Given the description of an element on the screen output the (x, y) to click on. 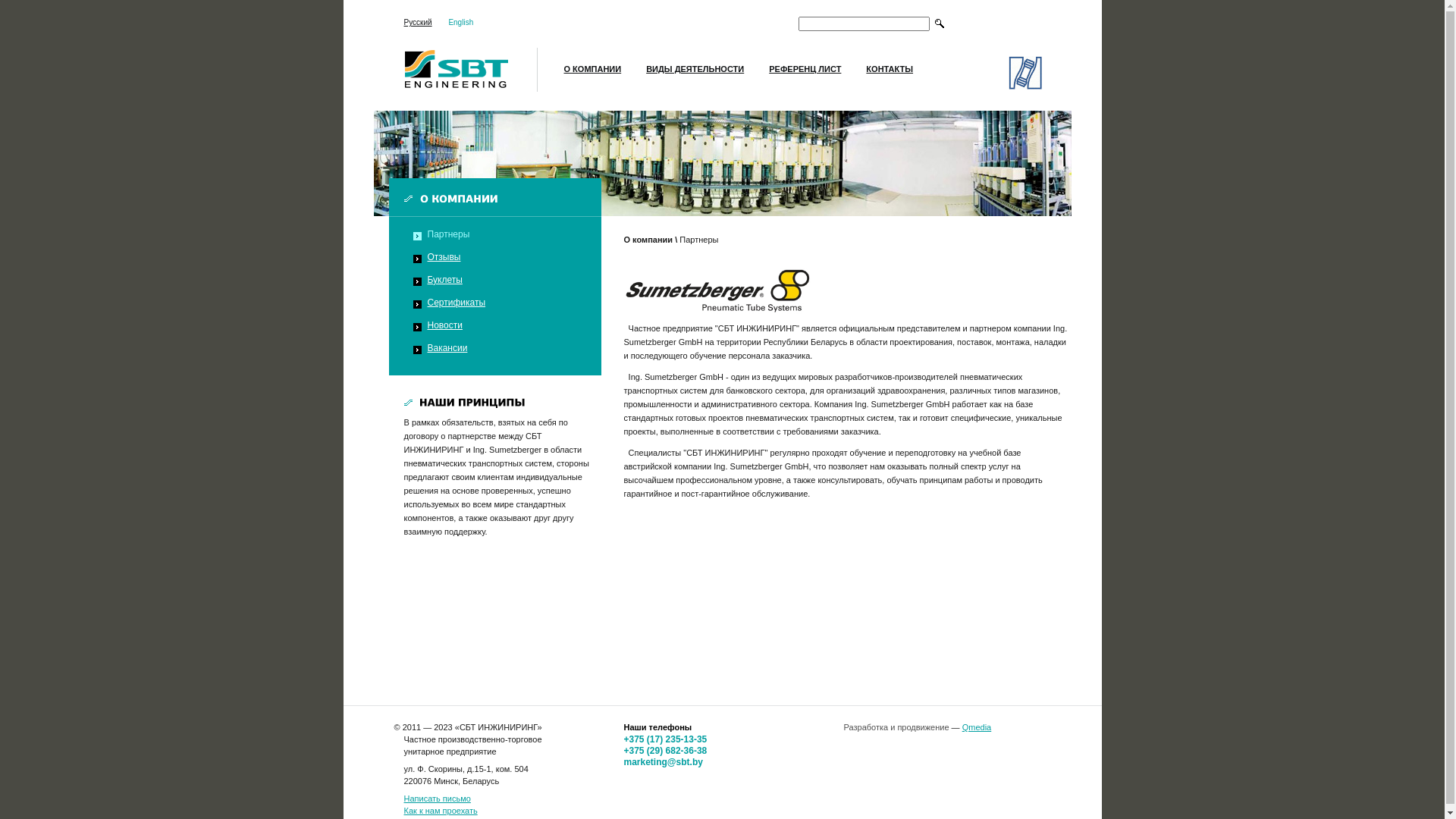
Qmedia Element type: text (976, 726)
